Given the description of an element on the screen output the (x, y) to click on. 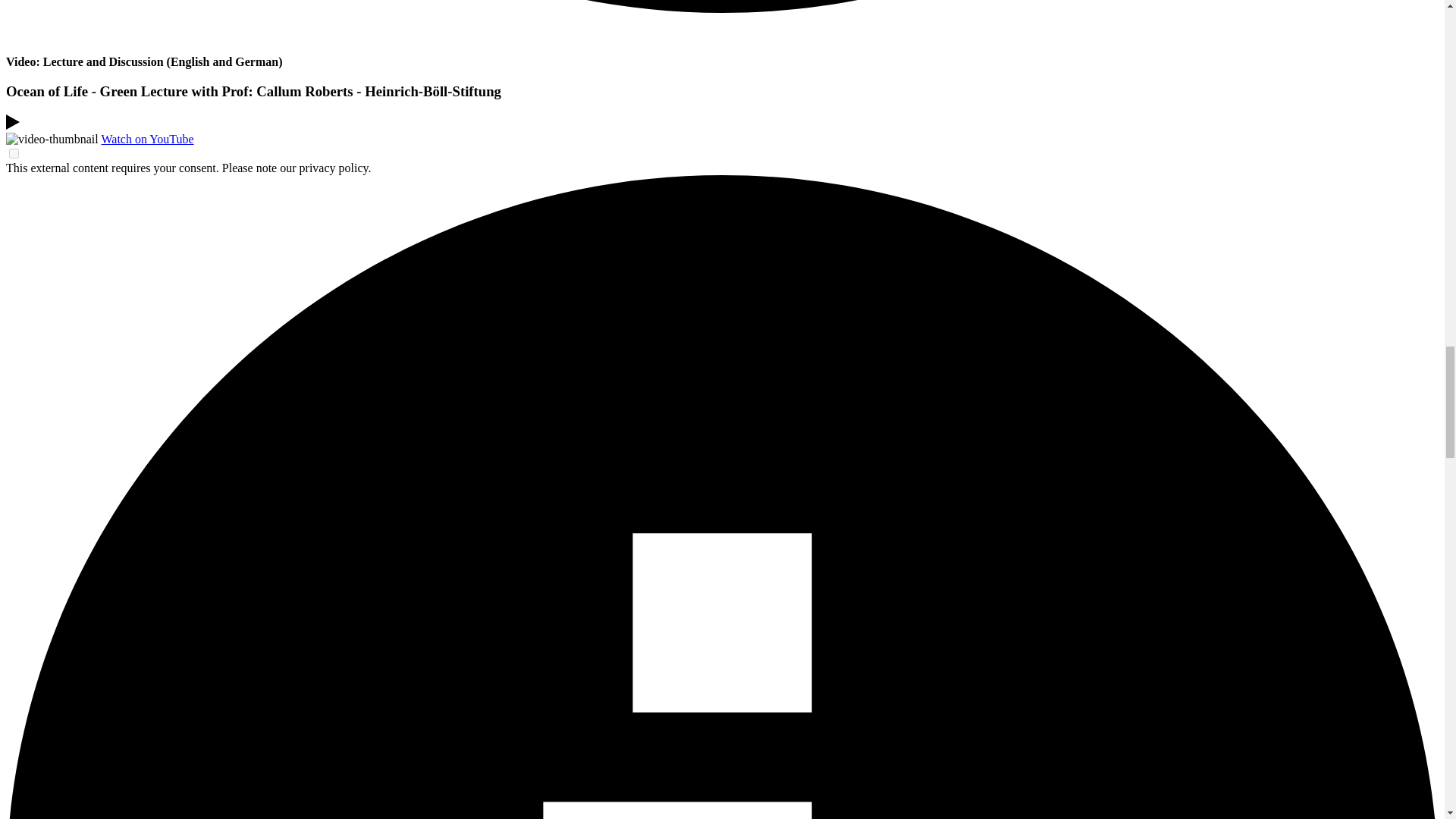
on (13, 153)
Watch on YouTube (146, 138)
